Given the description of an element on the screen output the (x, y) to click on. 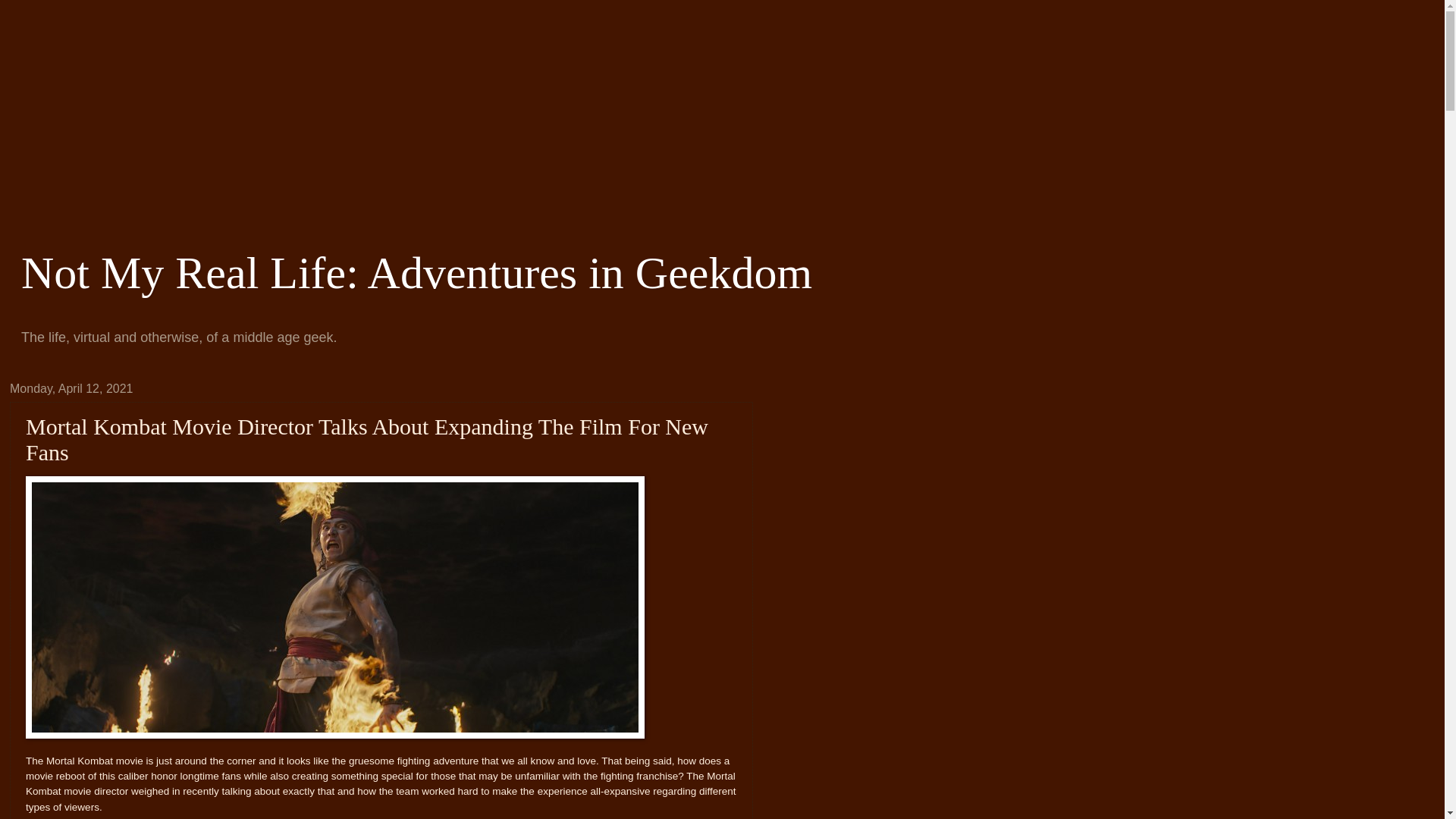
Not My Real Life: Adventures in Geekdom (416, 273)
